Given the description of an element on the screen output the (x, y) to click on. 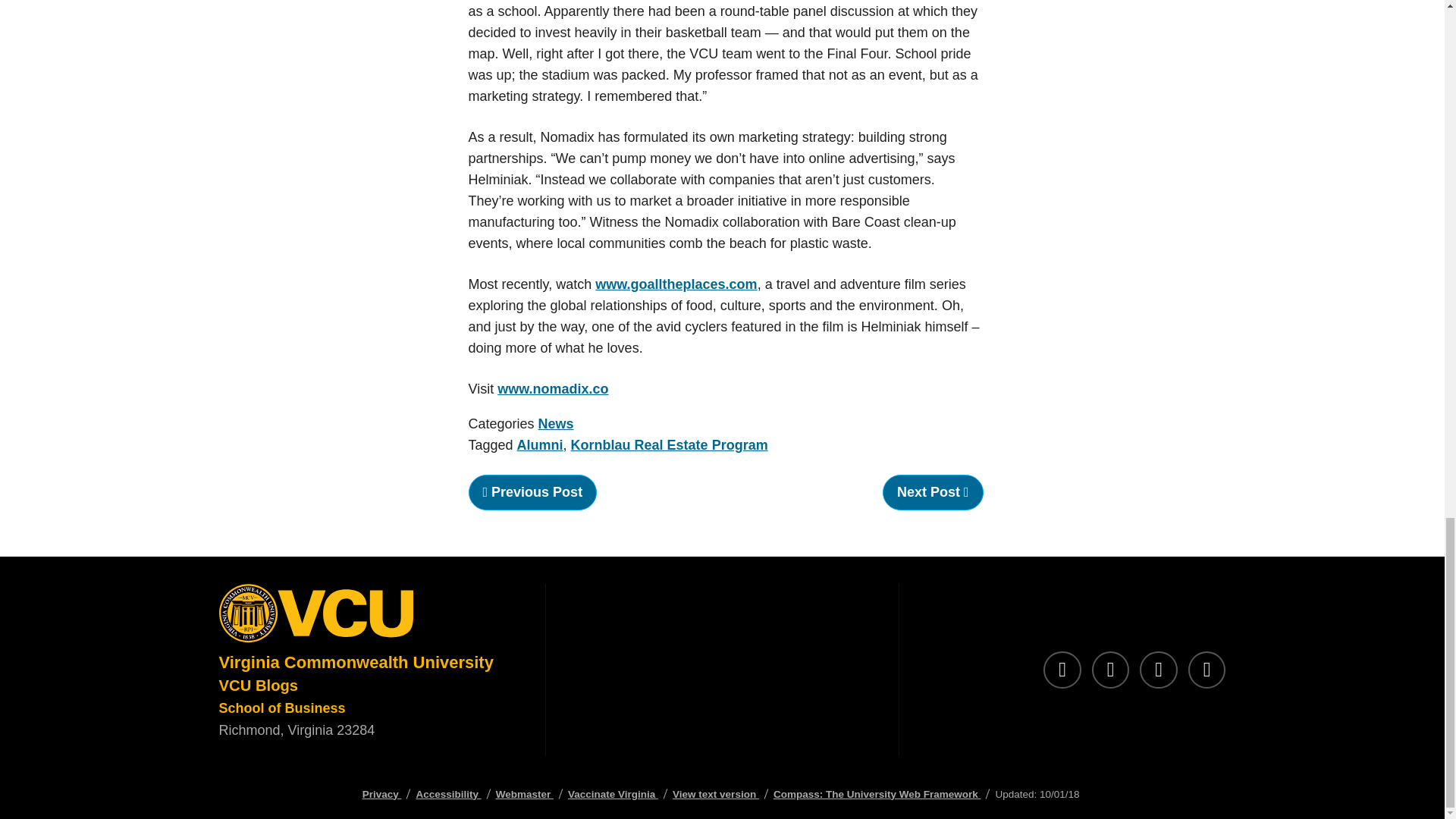
Visit Snapchat for VCU (1158, 670)
Visit Instagram for VCU (1110, 670)
Accessibility (447, 794)
School of Business (281, 708)
Privacy (381, 794)
Accessibility at VCU (447, 794)
VCU Blogs (258, 685)
Next Post (933, 492)
Compass: The University Web Framework (877, 794)
News (555, 423)
Virginia Commonwealth University (355, 661)
VCU Blogs (258, 685)
Virginia Commonwealth University seal (368, 617)
www.goalltheplaces.com (676, 283)
Alumni (539, 444)
